Given the description of an element on the screen output the (x, y) to click on. 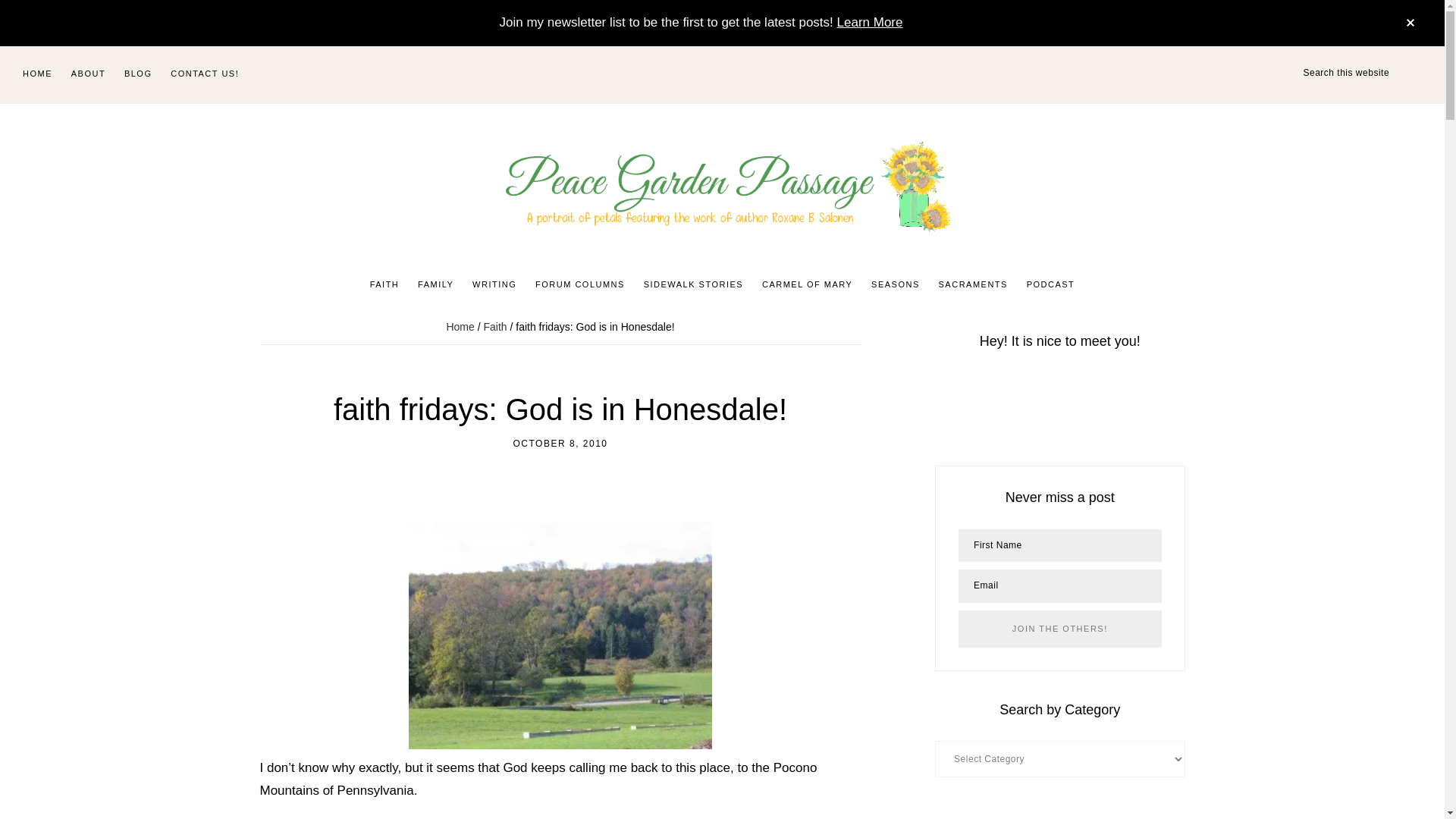
ABOUT (88, 73)
FAITH (384, 284)
Faith (494, 326)
HOME (36, 73)
CARMEL OF MARY (807, 284)
BLOG (138, 73)
Join the Others! (1059, 628)
WRITING (494, 284)
Home (459, 326)
SIDEWALK STORIES (693, 284)
FORUM COLUMNS (579, 284)
